Given the description of an element on the screen output the (x, y) to click on. 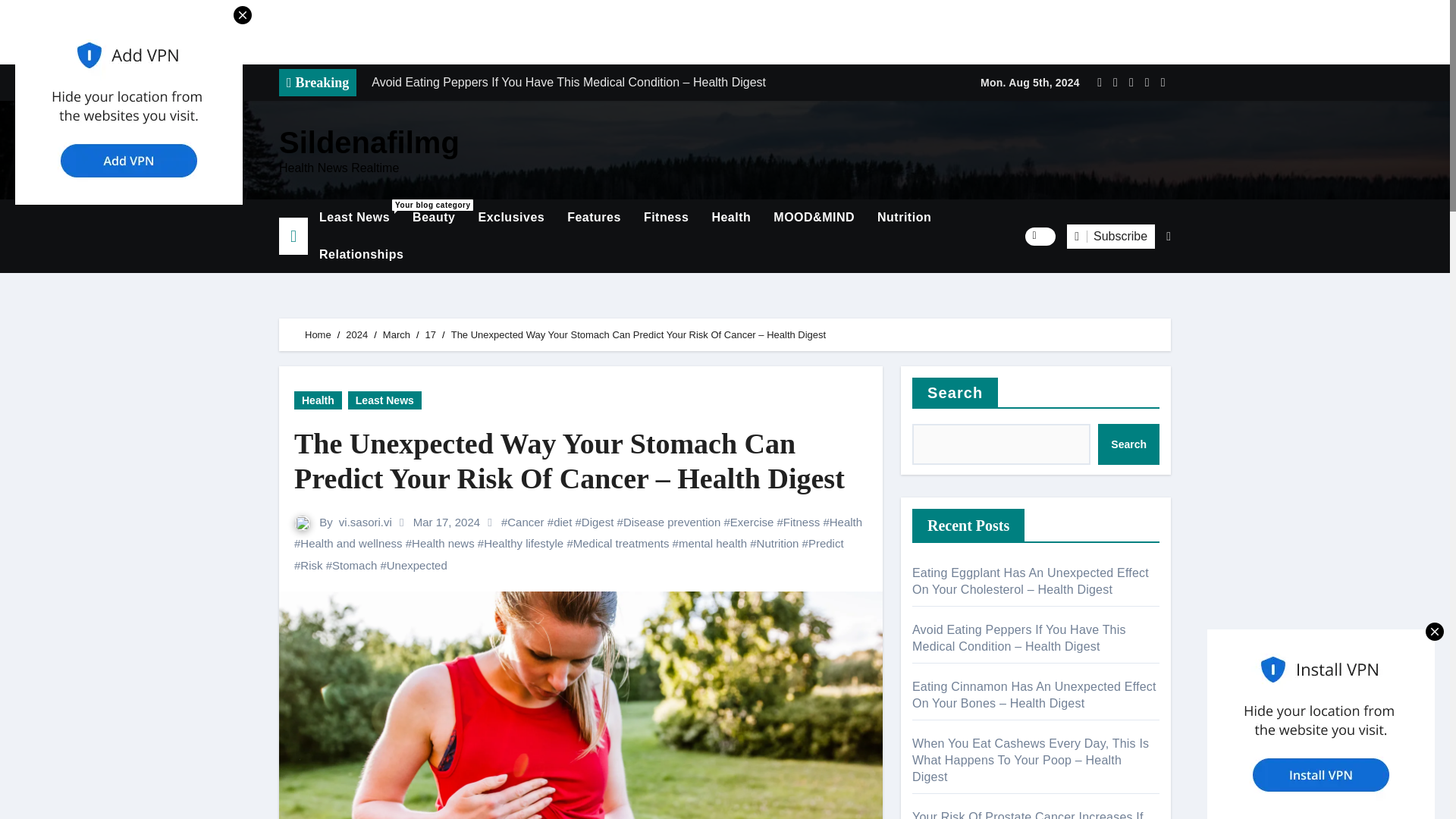
Features (593, 217)
Subscribe (1110, 236)
March (396, 334)
Sildenafilmg (369, 142)
Relationships (360, 254)
Exclusives (510, 217)
Exclusives (510, 217)
Nutrition (904, 217)
Relationships (360, 254)
Health (730, 217)
Fitness (665, 217)
17 (354, 217)
Fitness (430, 334)
Health (665, 217)
